Given the description of an element on the screen output the (x, y) to click on. 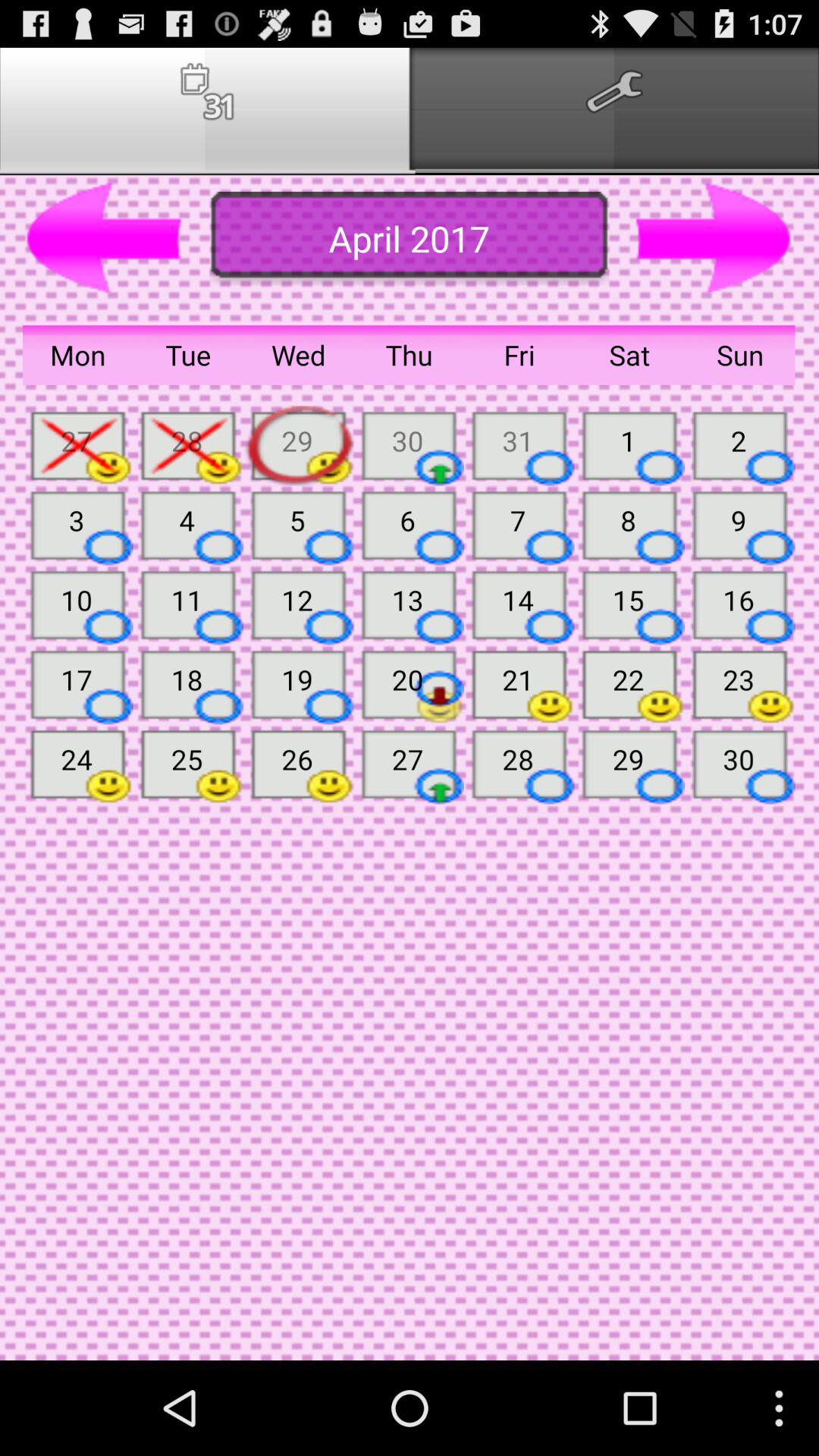
go back (104, 238)
